Given the description of an element on the screen output the (x, y) to click on. 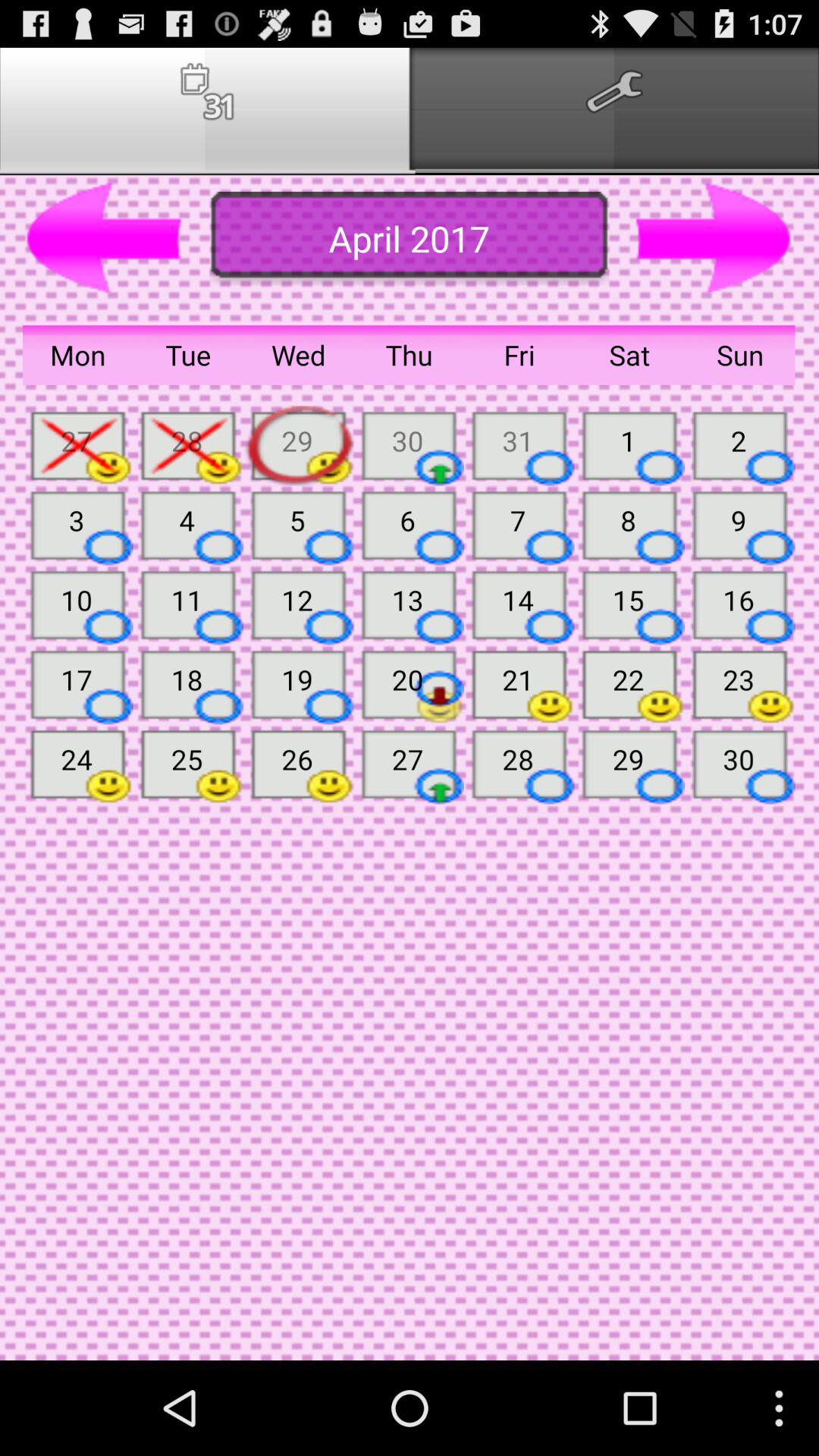
go back (104, 238)
